Given the description of an element on the screen output the (x, y) to click on. 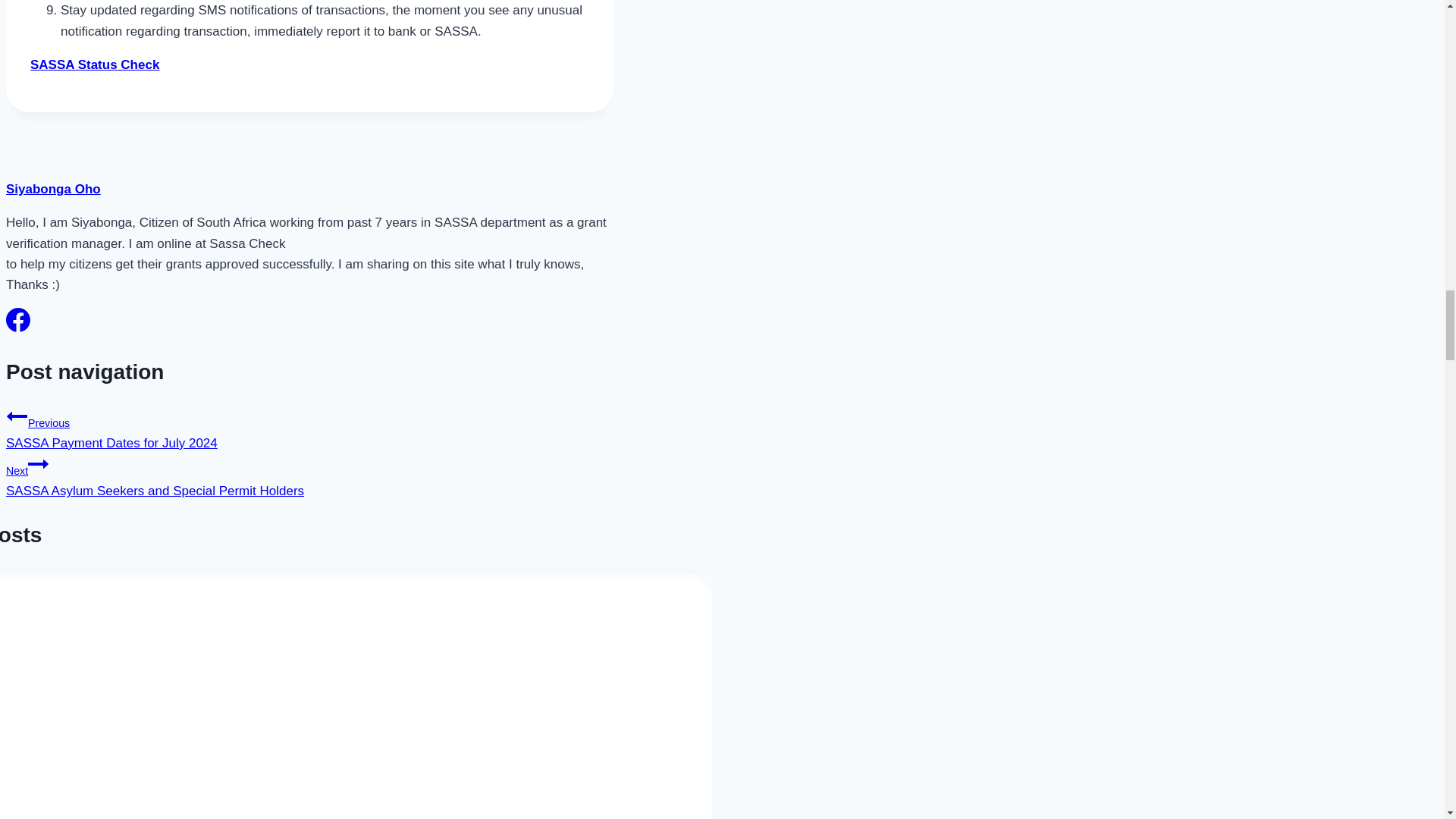
Follow Siyabonga Oho on Facebook (17, 327)
Facebook (17, 319)
Continue (37, 464)
Previous (16, 415)
Posts by Siyabonga Oho (52, 188)
